Given the description of an element on the screen output the (x, y) to click on. 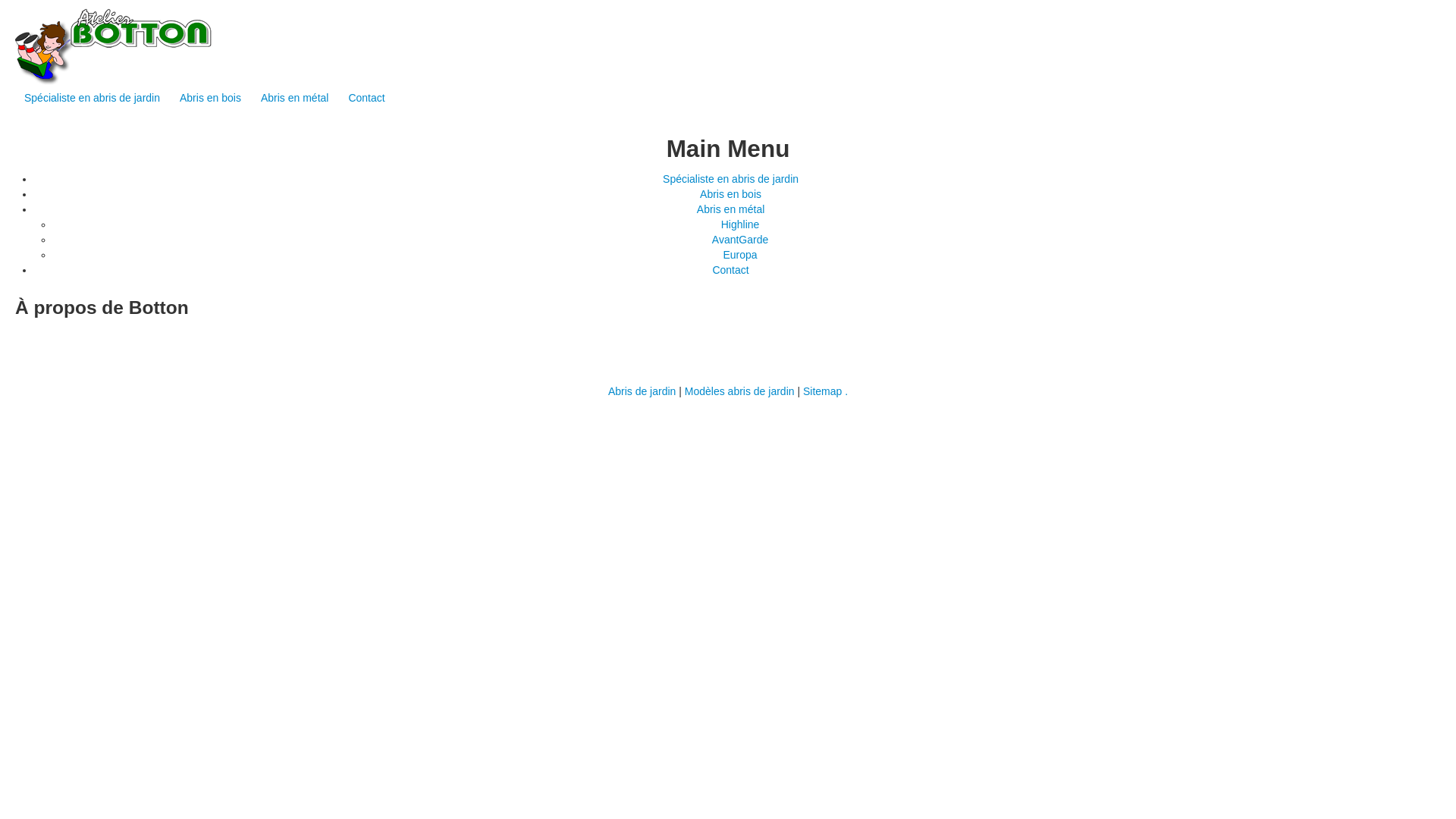
Europa Element type: text (739, 254)
Highline Element type: text (740, 224)
. Element type: text (845, 391)
Sitemap Element type: text (822, 391)
Abris de jardin Element type: text (642, 391)
Abris en bois Element type: text (210, 97)
AvantGarde Element type: text (740, 239)
Contact Element type: text (730, 269)
info@botton.be Element type: text (466, 372)
Abris en bois Element type: text (730, 194)
Contact Element type: text (365, 97)
